Given the description of an element on the screen output the (x, y) to click on. 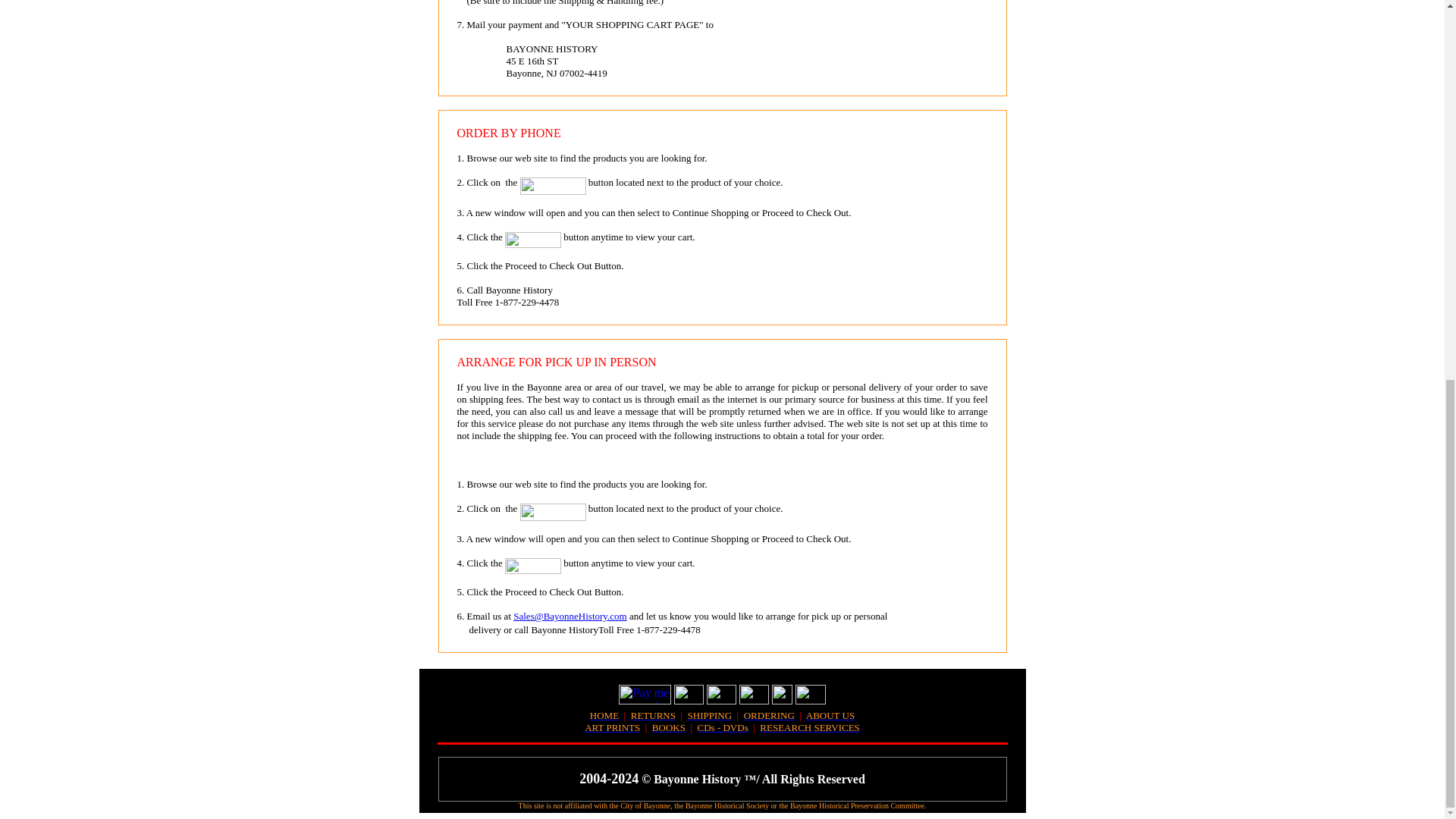
BOOKS (668, 727)
How to Order. (769, 715)
SHIPPING (709, 715)
RETURNS (652, 715)
ORDERING (769, 715)
Our return policy. (652, 715)
View Art Prints. (612, 727)
Read our "About Us" page. (830, 715)
ART PRINTS (612, 727)
Our shipping chart. (709, 715)
